Given the description of an element on the screen output the (x, y) to click on. 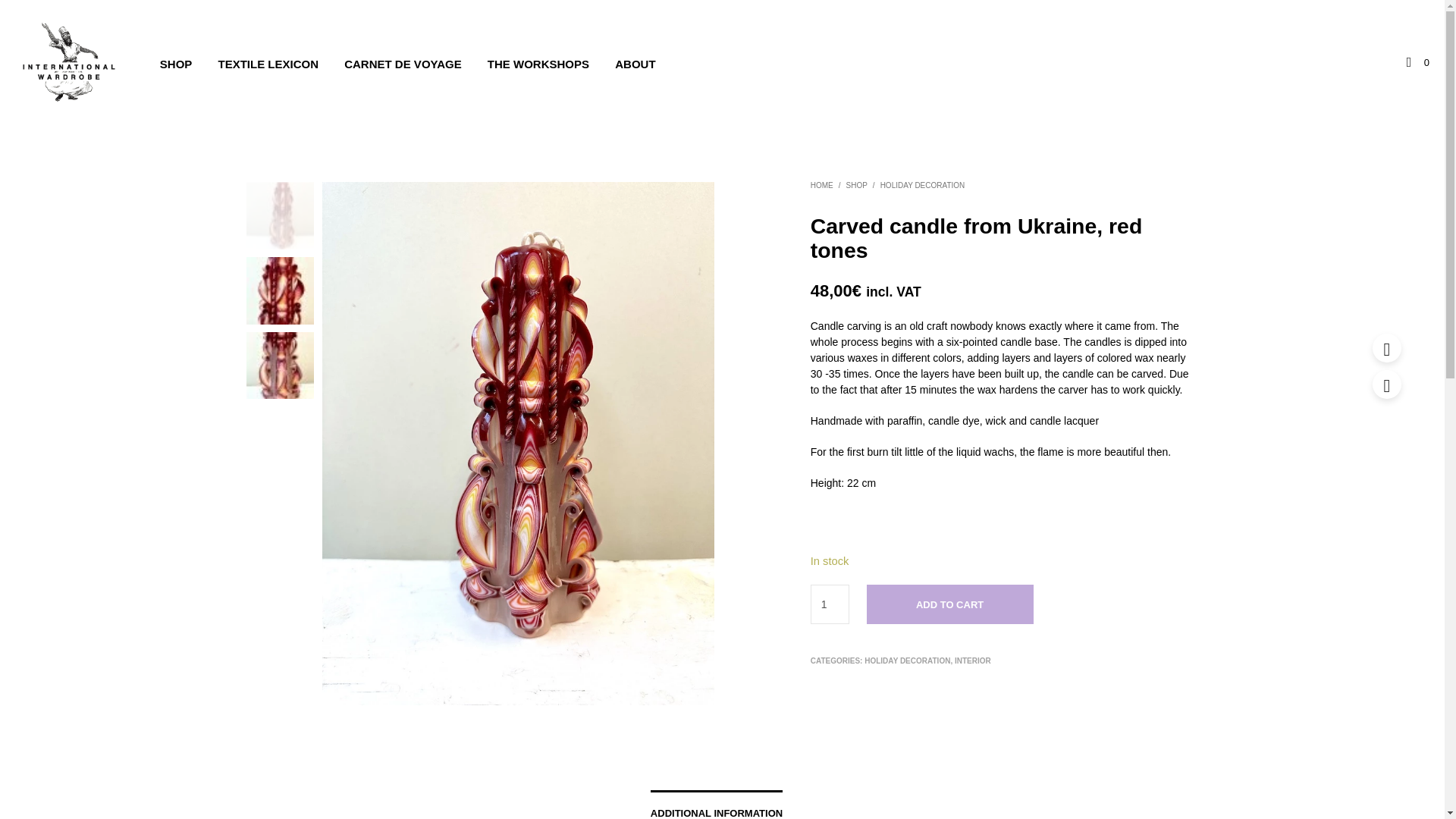
1 (829, 604)
HOME (821, 184)
ADDITIONAL INFORMATION (716, 805)
INTERIOR (973, 660)
HOLIDAY DECORATION (907, 660)
SHOP (856, 184)
SHOP (175, 64)
THE WORKSHOPS (537, 64)
CARNET DE VOYAGE (402, 64)
ABOUT (635, 64)
